Given the description of an element on the screen output the (x, y) to click on. 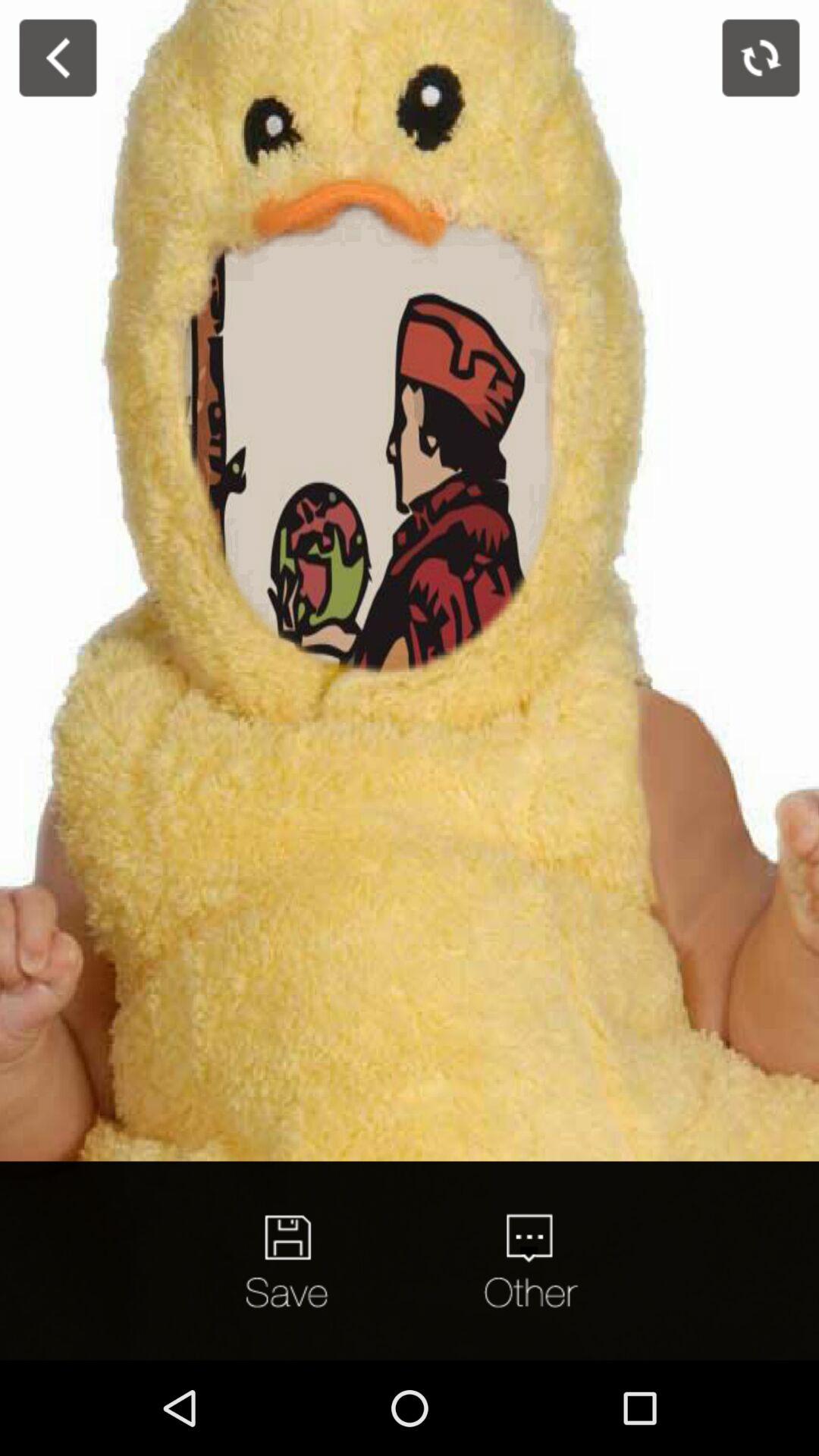
turn on the item at the top left corner (57, 57)
